Given the description of an element on the screen output the (x, y) to click on. 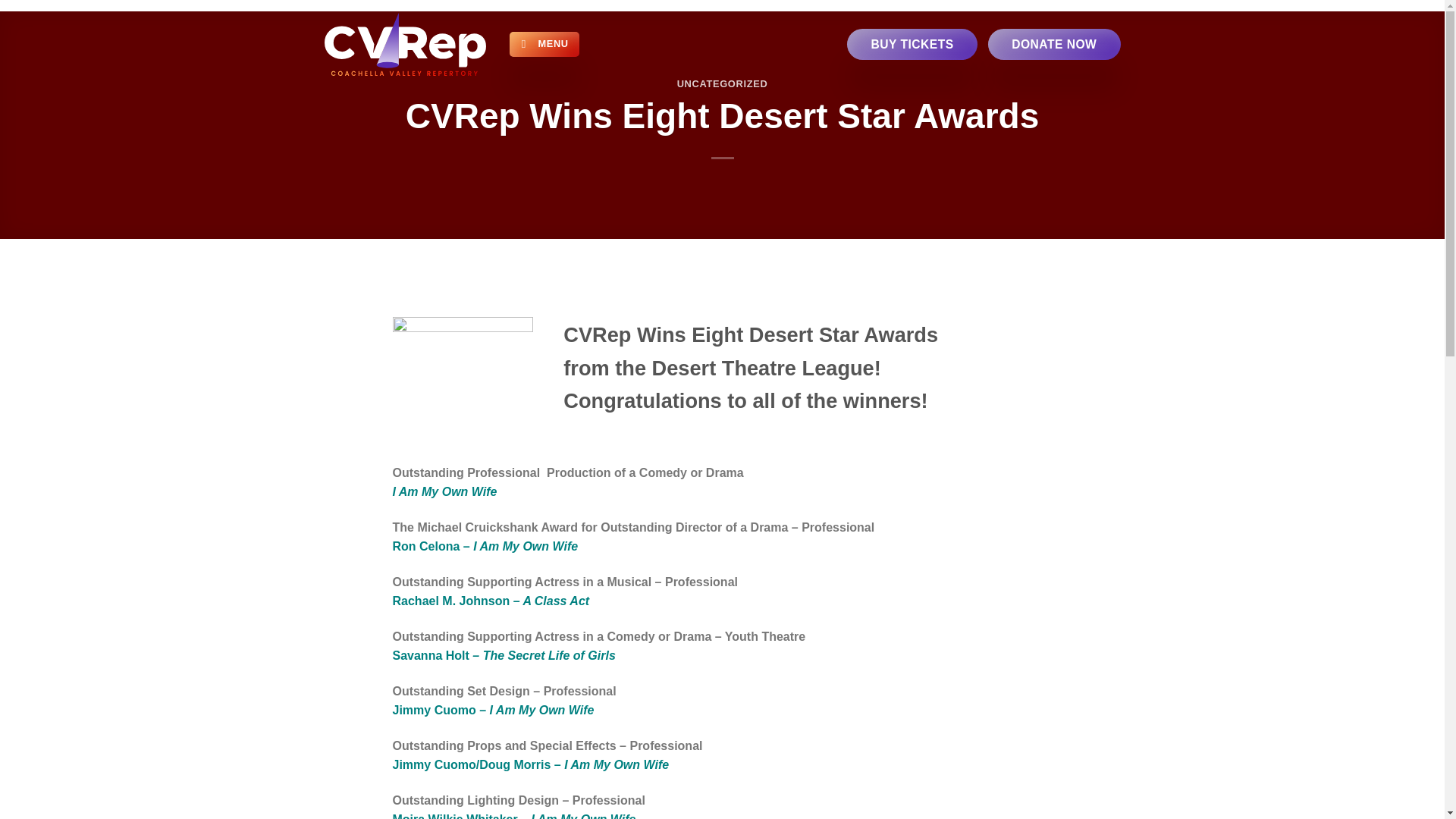
DONATE NOW (1054, 43)
UNCATEGORIZED (722, 83)
MENU (544, 43)
BUY TICKETS (911, 43)
